Given the description of an element on the screen output the (x, y) to click on. 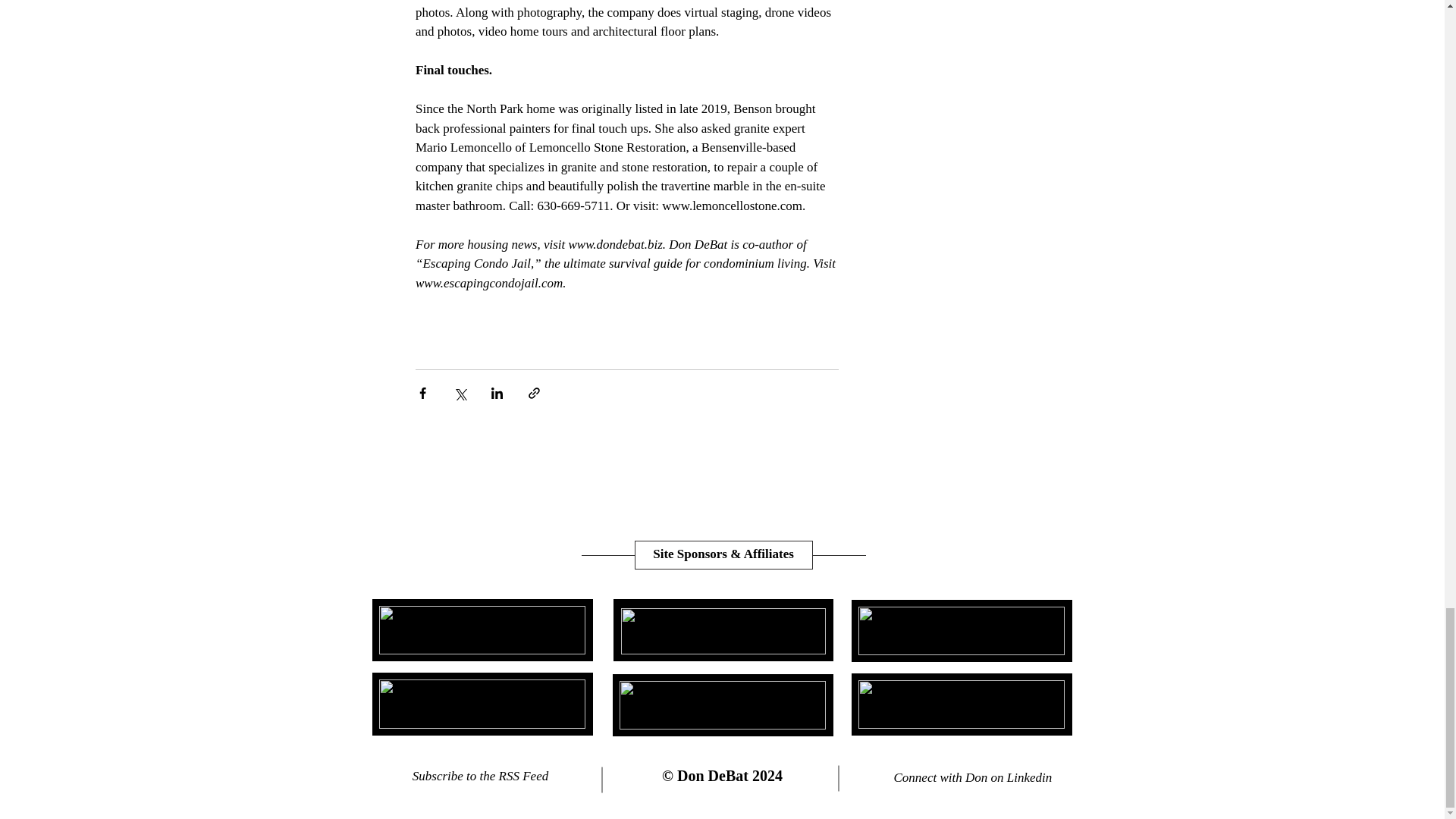
Don DeBat's RSS Feed (570, 776)
